Given the description of an element on the screen output the (x, y) to click on. 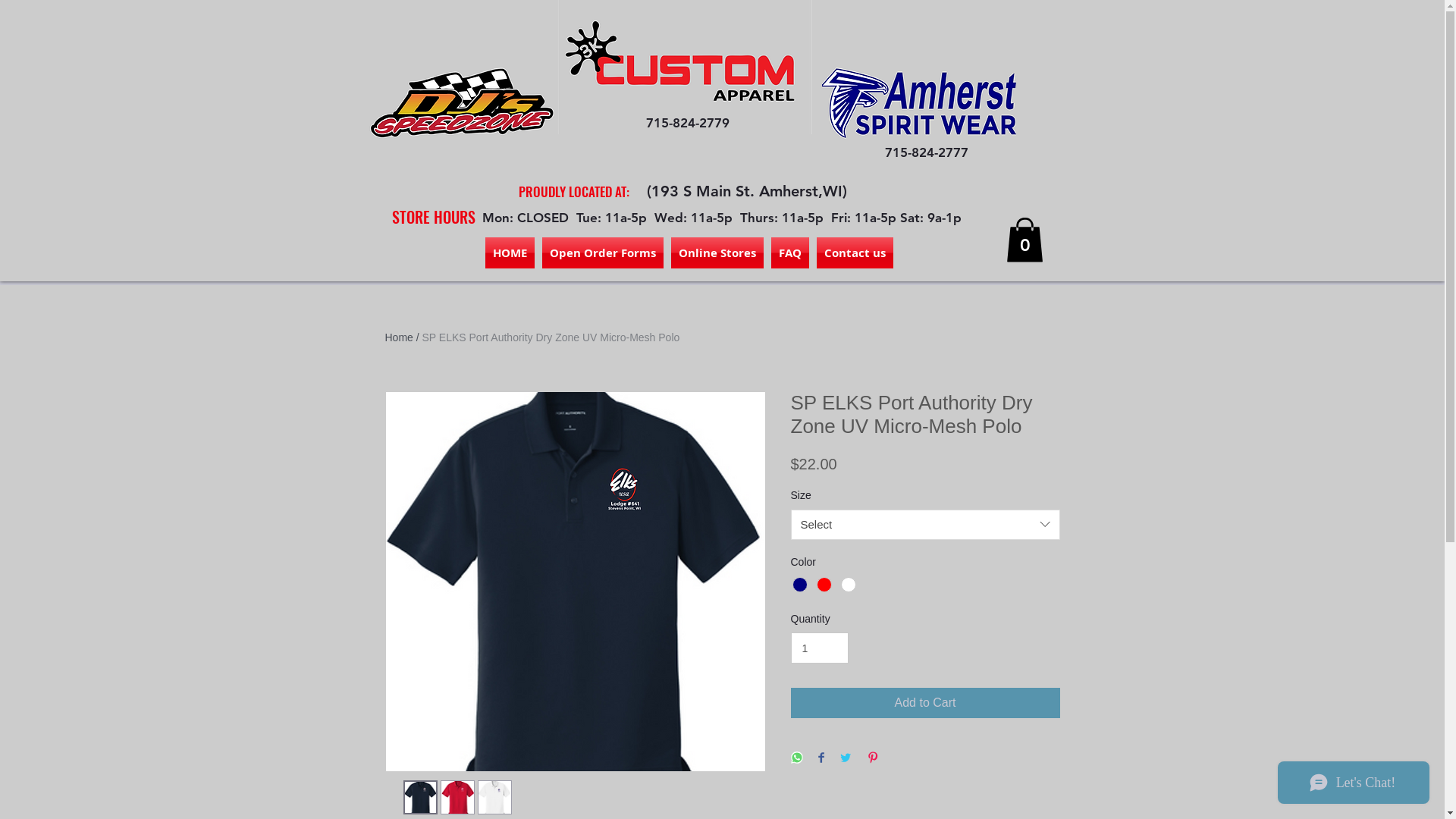
Online Stores Element type: text (717, 252)
HOME Element type: text (509, 252)
FAQ Element type: text (789, 252)
Contact us Element type: text (854, 252)
Home Element type: text (399, 337)
0 Element type: text (1023, 239)
Open Order Forms Element type: text (602, 252)
SP ELKS Port Authority Dry Zone UV Micro-Mesh Polo Element type: text (551, 337)
Add to Cart Element type: text (924, 702)
Select Element type: text (924, 524)
